Given the description of an element on the screen output the (x, y) to click on. 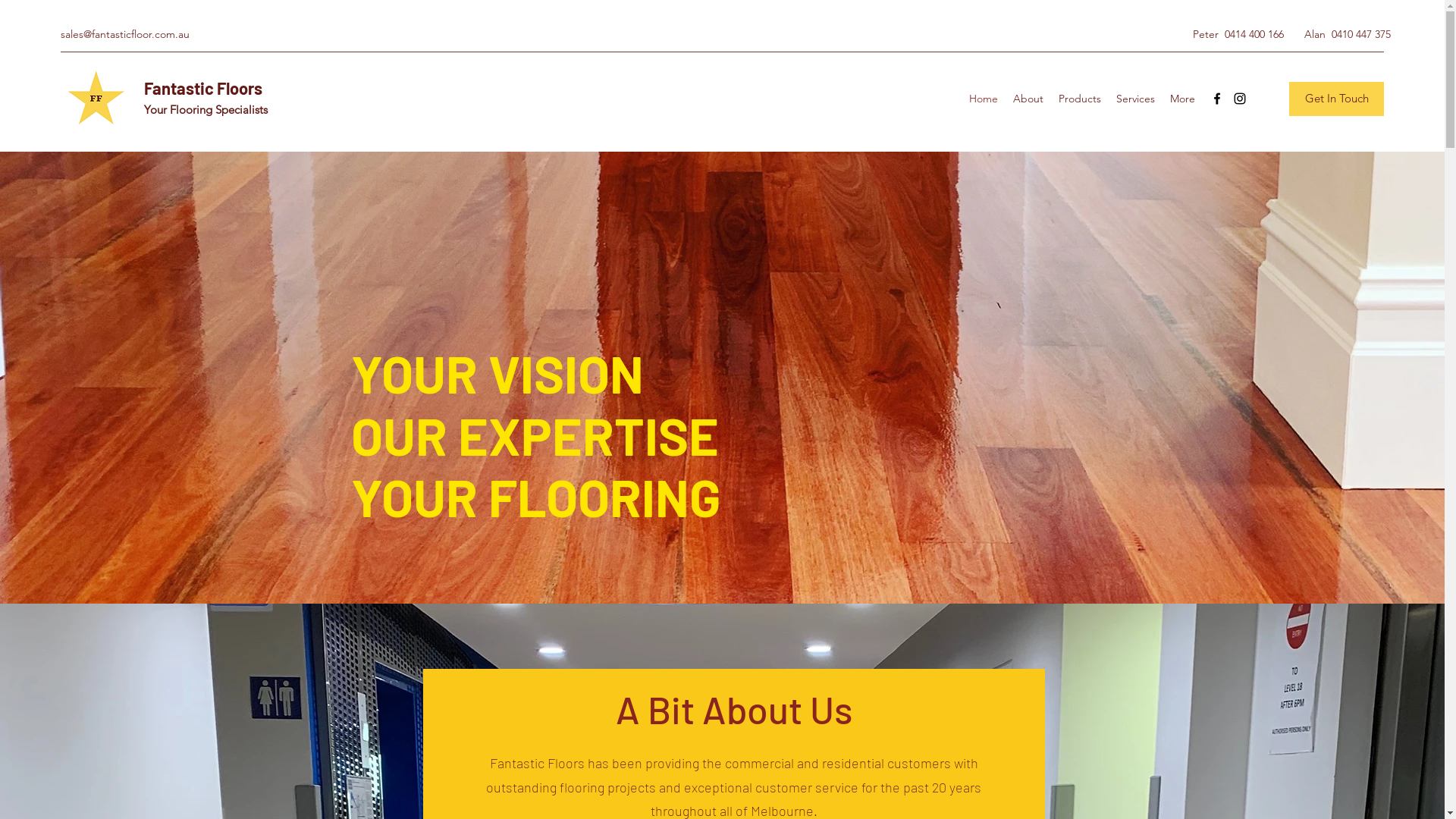
sales@fantasticfloor.com.au Element type: text (124, 33)
Fantastic Floors Element type: text (203, 87)
Services Element type: text (1135, 98)
Home Element type: text (983, 98)
Get In Touch Element type: text (1336, 98)
About Element type: text (1028, 98)
